Given the description of an element on the screen output the (x, y) to click on. 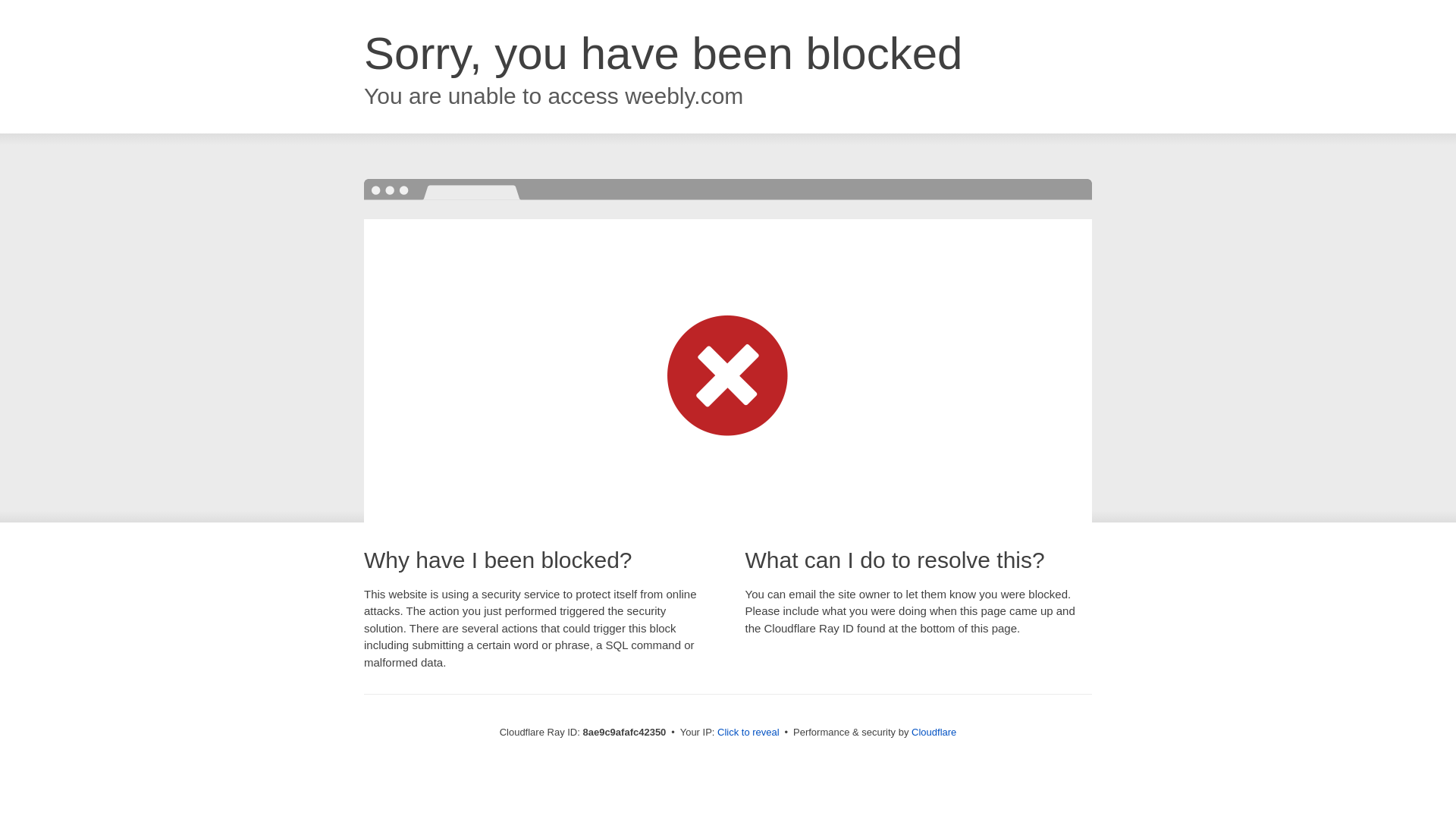
Cloudflare (933, 731)
Click to reveal (747, 732)
